Given the description of an element on the screen output the (x, y) to click on. 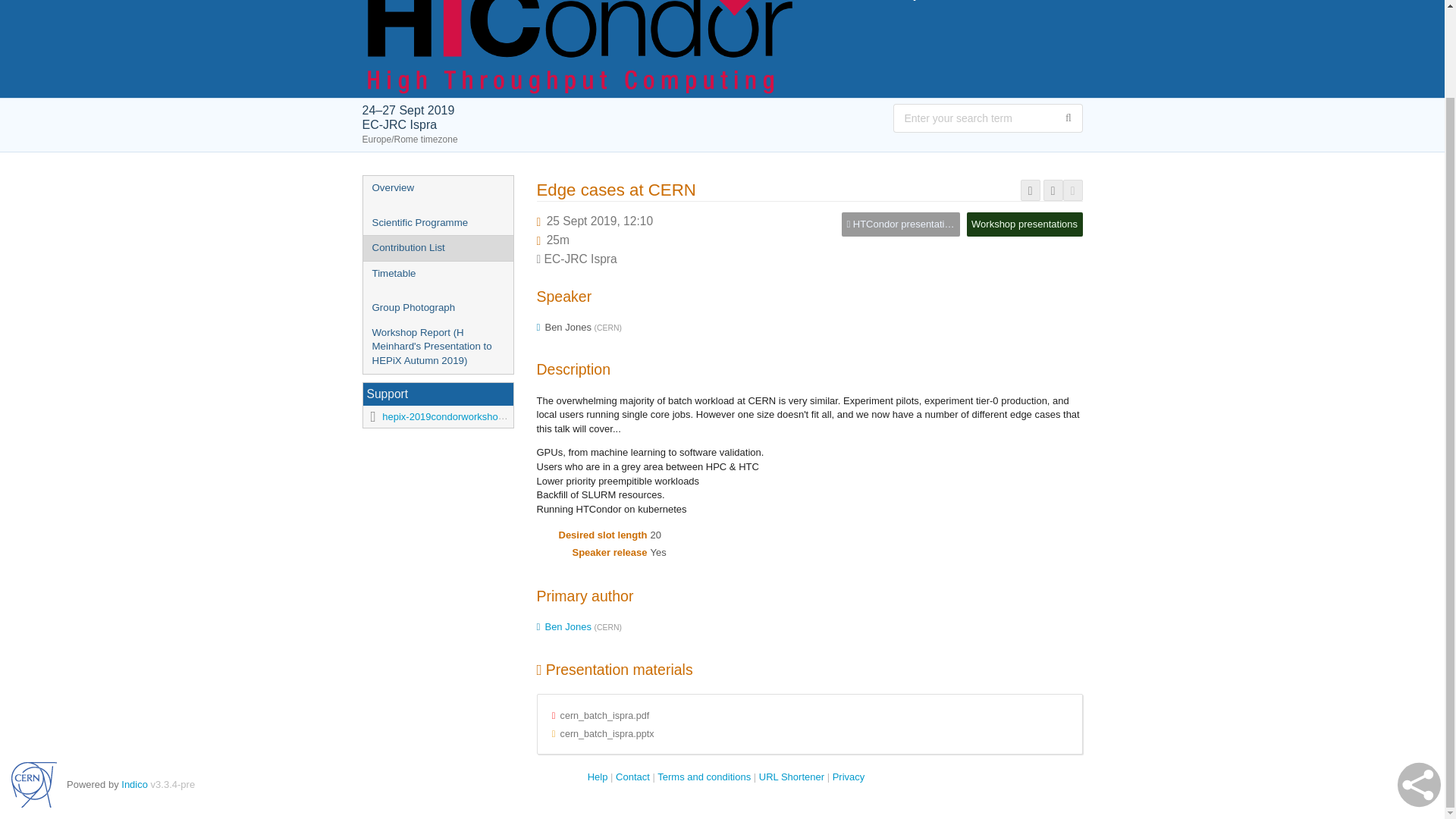
European HTCondor Workshop 2019 (722, 9)
Export (1072, 190)
Obtain short URL (1030, 190)
Export to PDF (1052, 190)
Overview (437, 188)
Duration (558, 239)
Contribution List (437, 248)
Scientific Programme (437, 222)
